Given the description of an element on the screen output the (x, y) to click on. 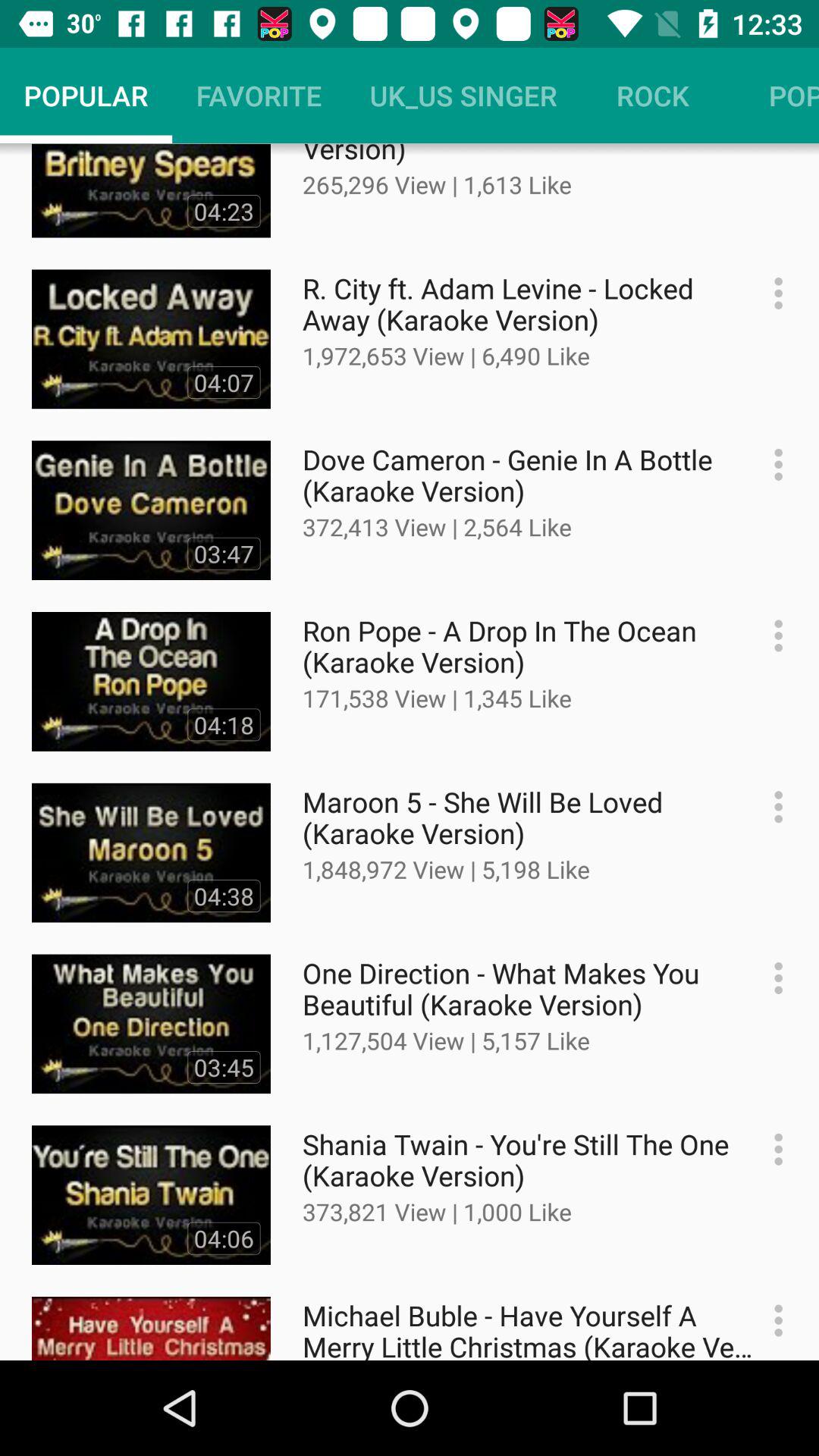
show options (770, 464)
